Given the description of an element on the screen output the (x, y) to click on. 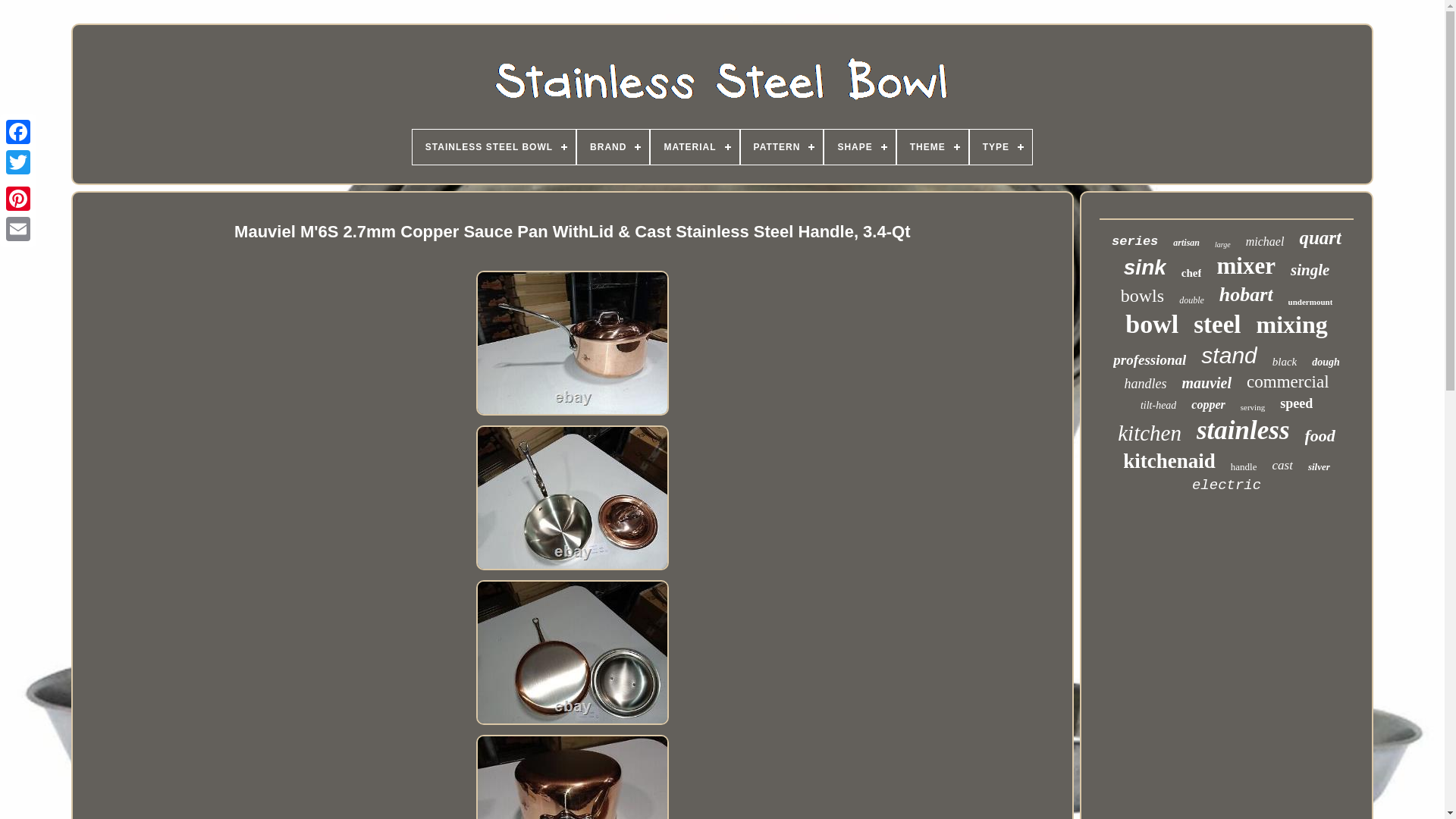
STAINLESS STEEL BOWL (493, 146)
Twitter (17, 162)
MATERIAL (694, 146)
BRAND (612, 146)
